Given the description of an element on the screen output the (x, y) to click on. 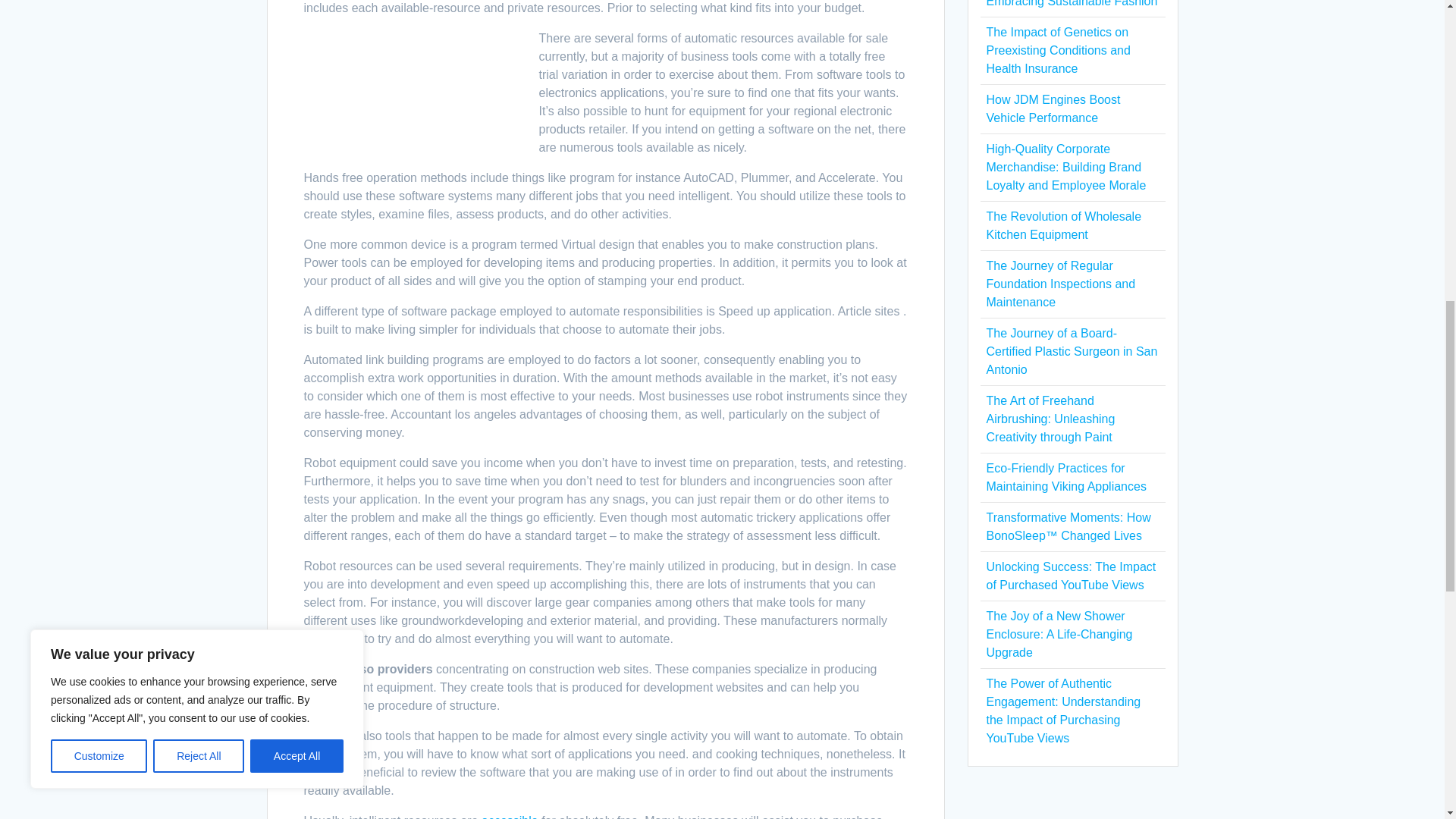
automate (327, 705)
The Thrill of Thrifting: Embracing Sustainable Fashion (1071, 3)
accessible (509, 816)
How JDM Engines Boost Vehicle Performance (1052, 108)
The Revolution of Wholesale Kitchen Equipment (1063, 224)
